Given the description of an element on the screen output the (x, y) to click on. 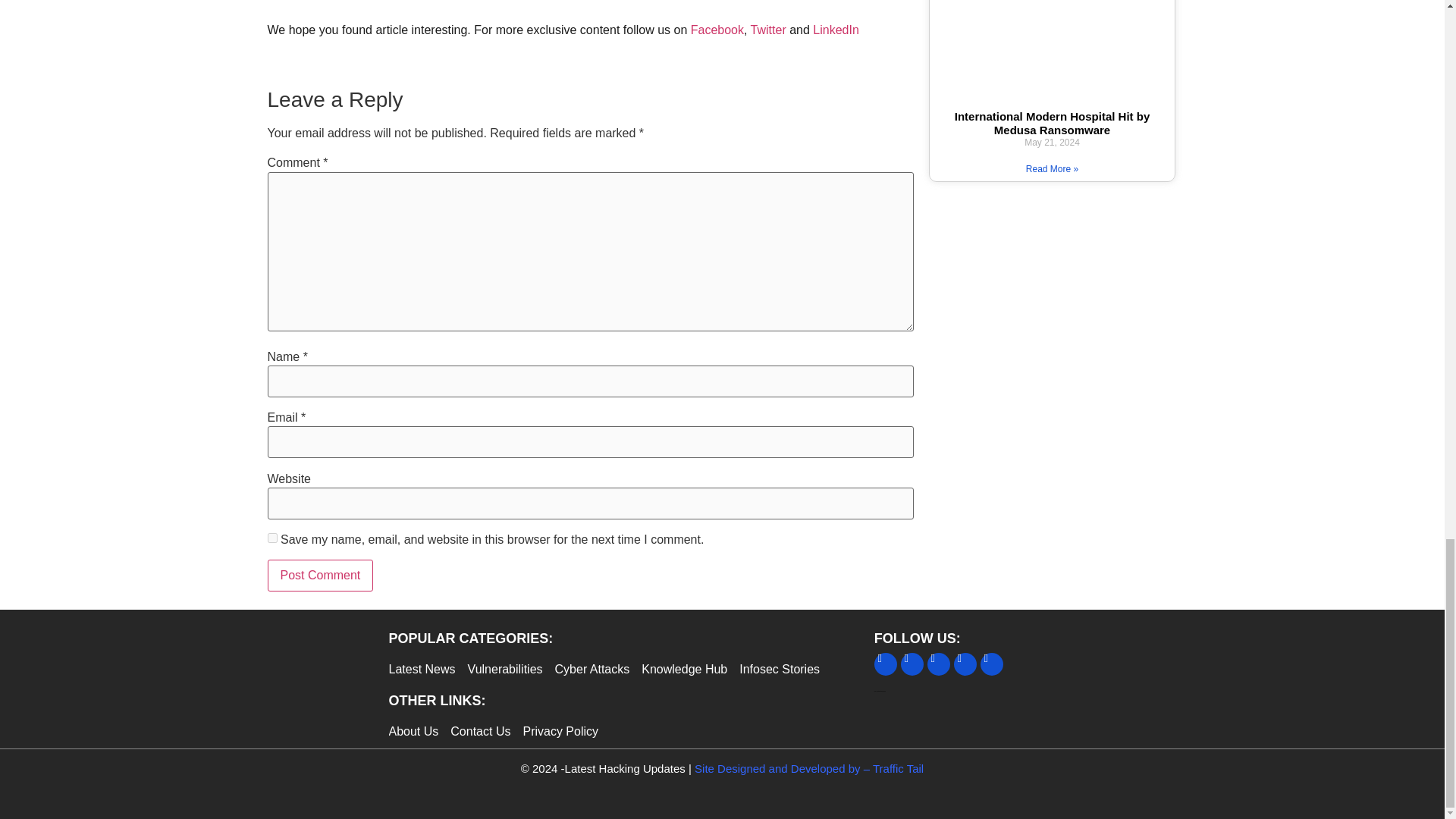
yes (271, 537)
Post Comment (319, 575)
